Given the description of an element on the screen output the (x, y) to click on. 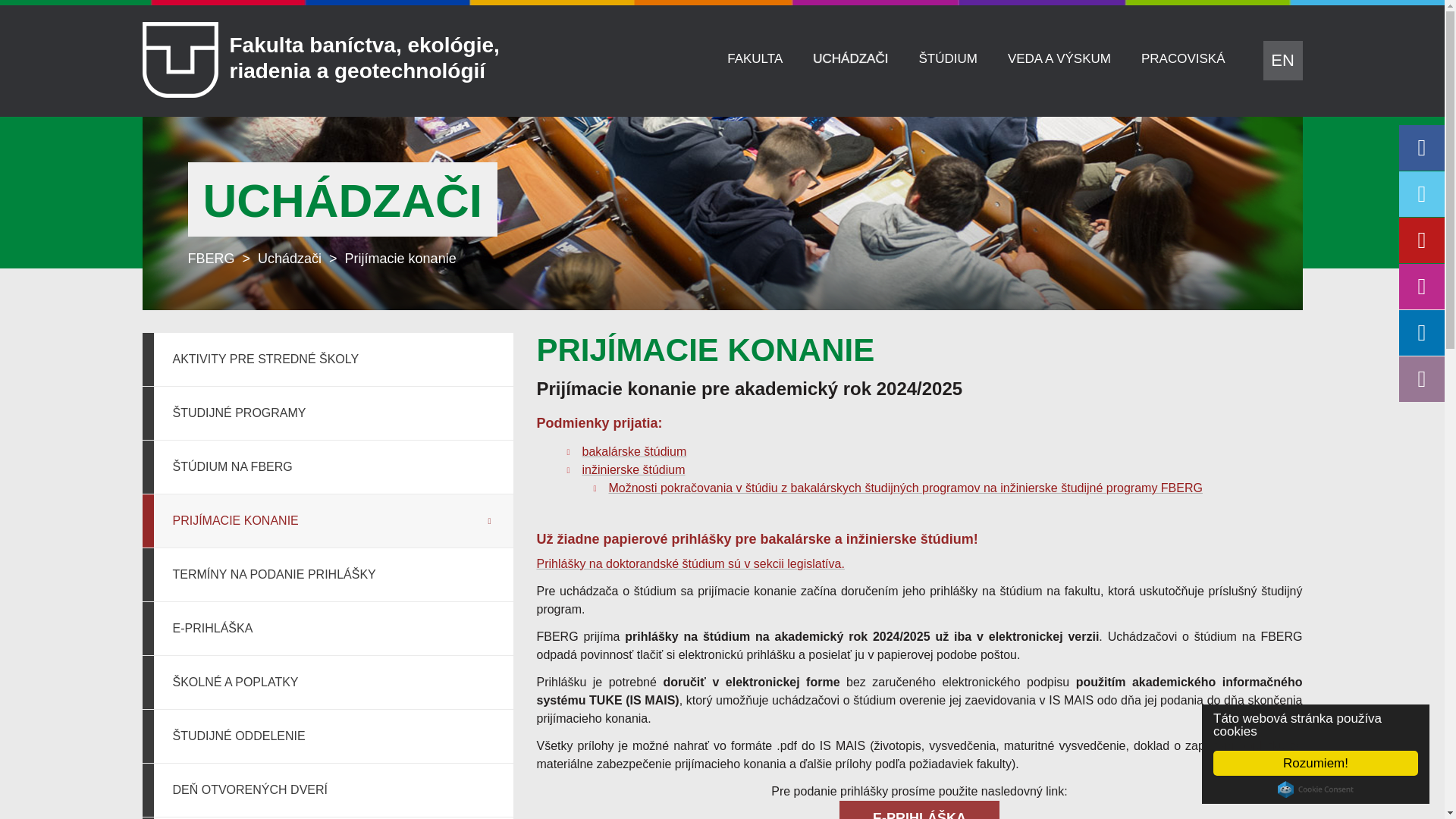
FAKULTA (754, 58)
Cookie Consent plugin for the EU cookie law (1316, 789)
Rozumiem! (1315, 763)
